Given the description of an element on the screen output the (x, y) to click on. 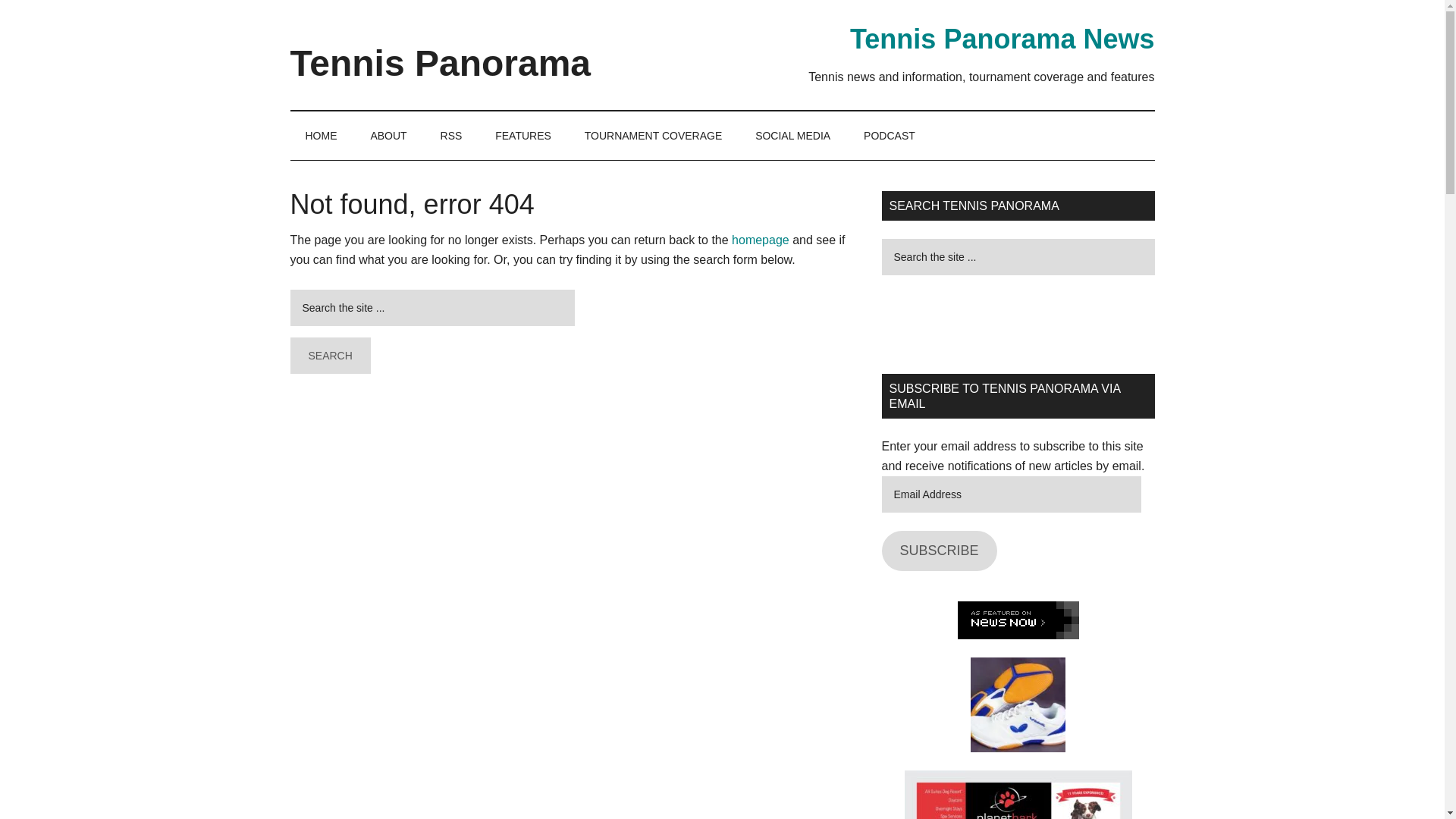
PODCAST (889, 135)
homepage (760, 239)
TOURNAMENT COVERAGE (653, 135)
HOME (320, 135)
Tennis Panorama (440, 63)
Search (329, 355)
SUBSCRIBE (937, 550)
